Given the description of an element on the screen output the (x, y) to click on. 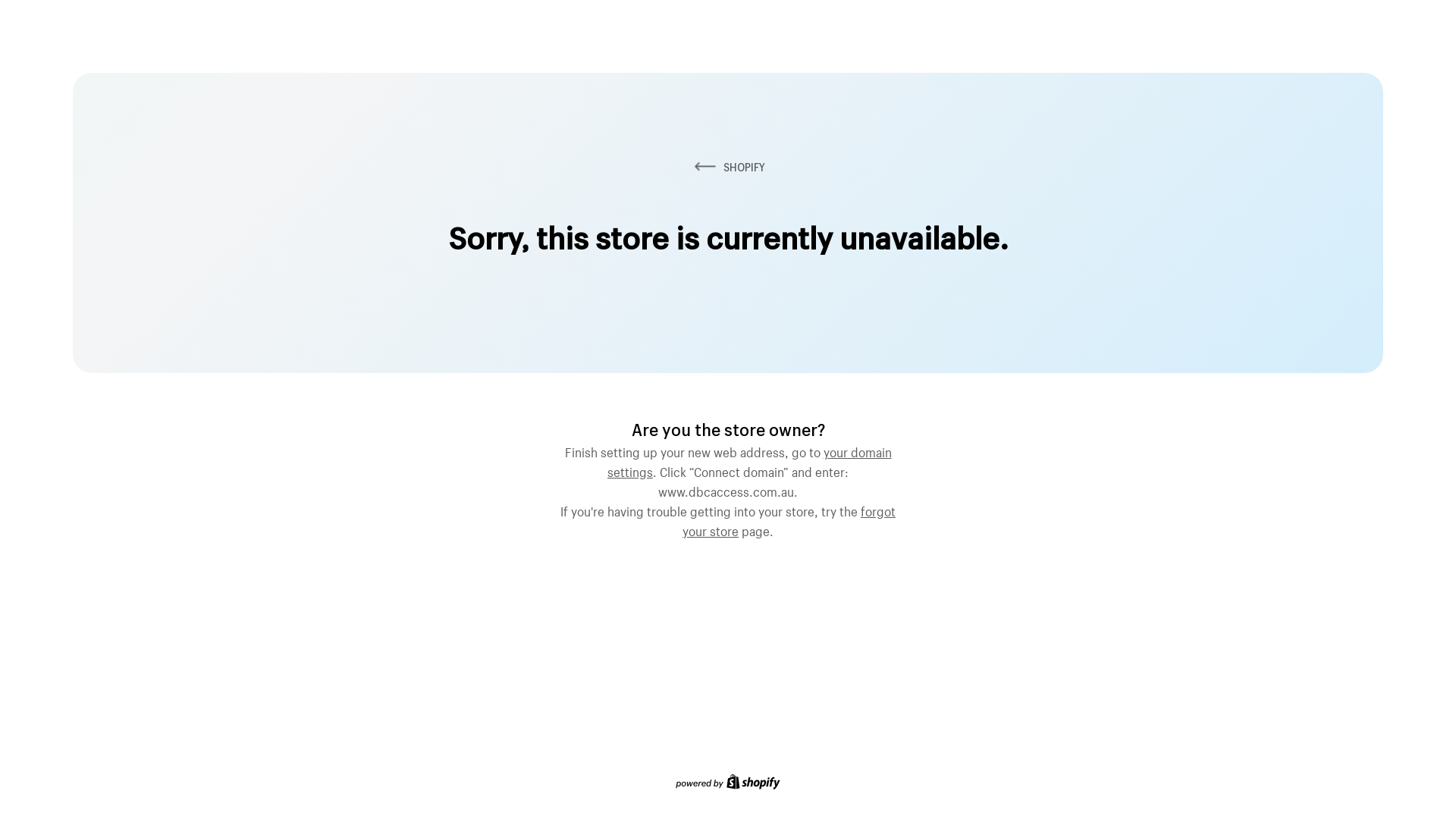
your domain settings Element type: text (749, 460)
forgot your store Element type: text (788, 519)
SHOPIFY Element type: text (727, 167)
